Given the description of an element on the screen output the (x, y) to click on. 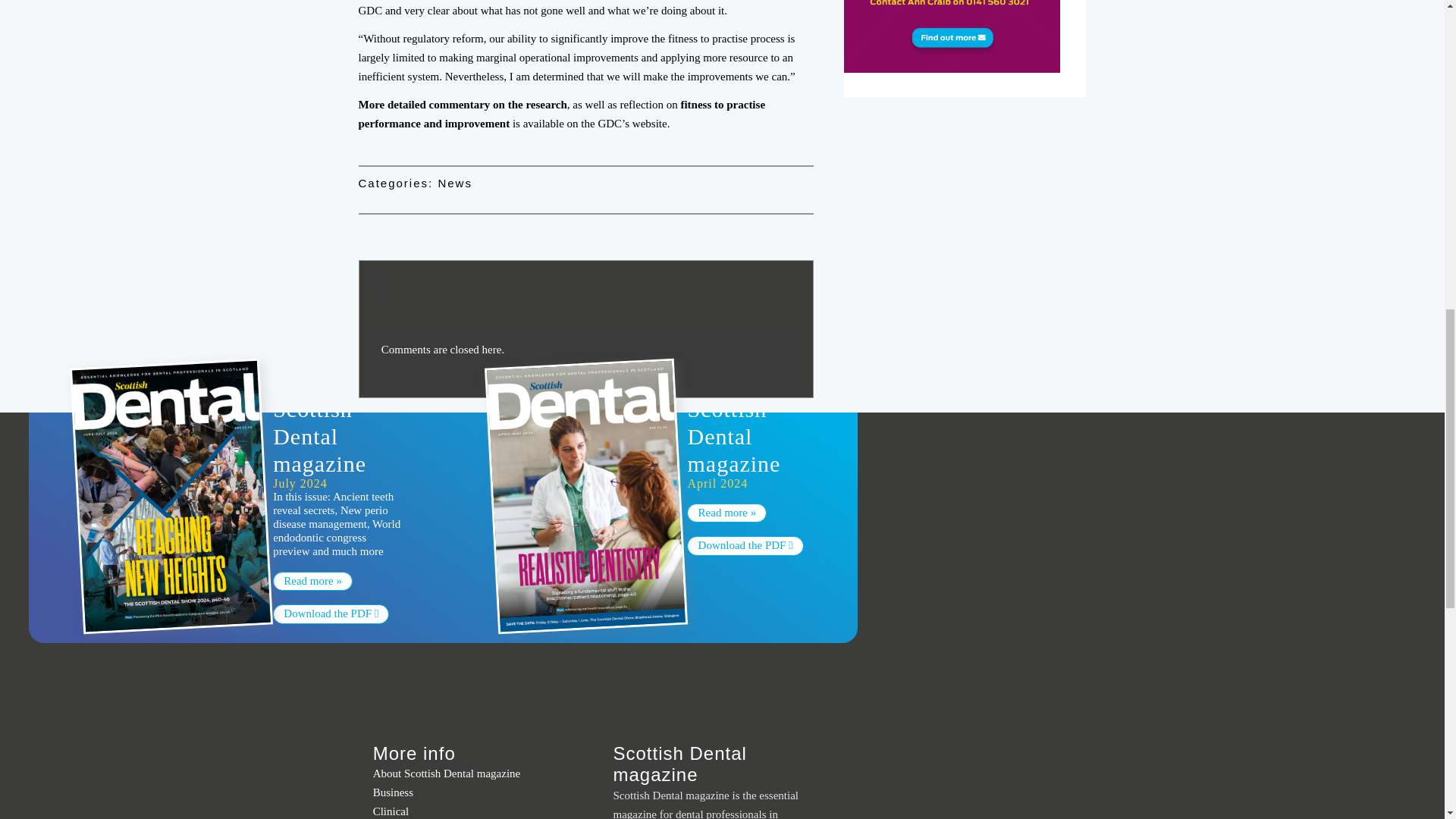
News (454, 182)
Download the PDF (330, 614)
More detailed commentary on the research (462, 104)
fitness to practise performance and improvement (561, 113)
Click here to download a PDF (745, 546)
Click here to download a PDF (330, 614)
